Given the description of an element on the screen output the (x, y) to click on. 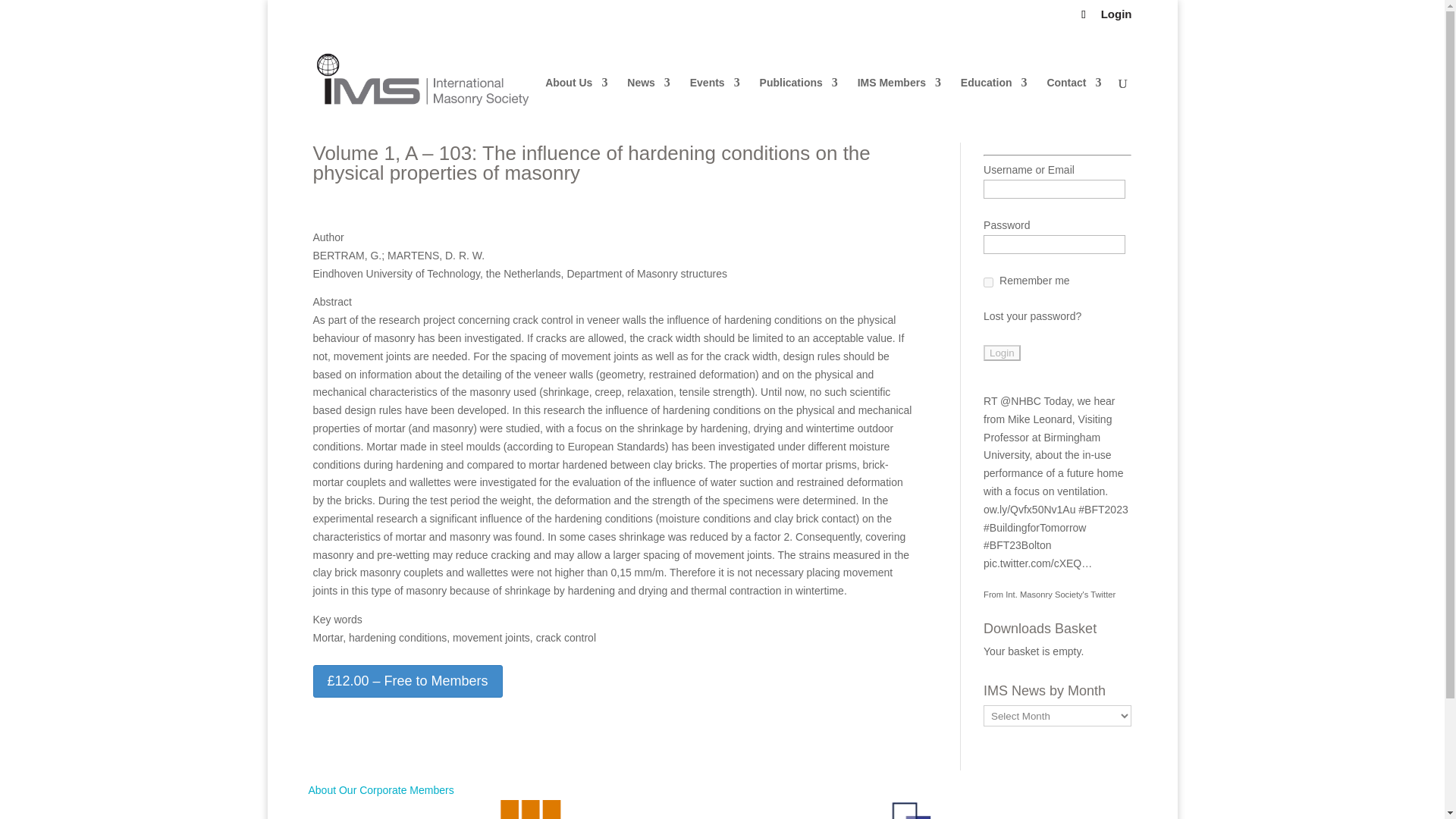
About Us (575, 109)
Lost your password? (1032, 316)
Login (1116, 17)
IMS Members (898, 109)
NHBC (1020, 400)
Login (1002, 352)
Publications (799, 109)
Int. Masonry Society (1060, 593)
1 (988, 282)
Login (1002, 352)
